Given the description of an element on the screen output the (x, y) to click on. 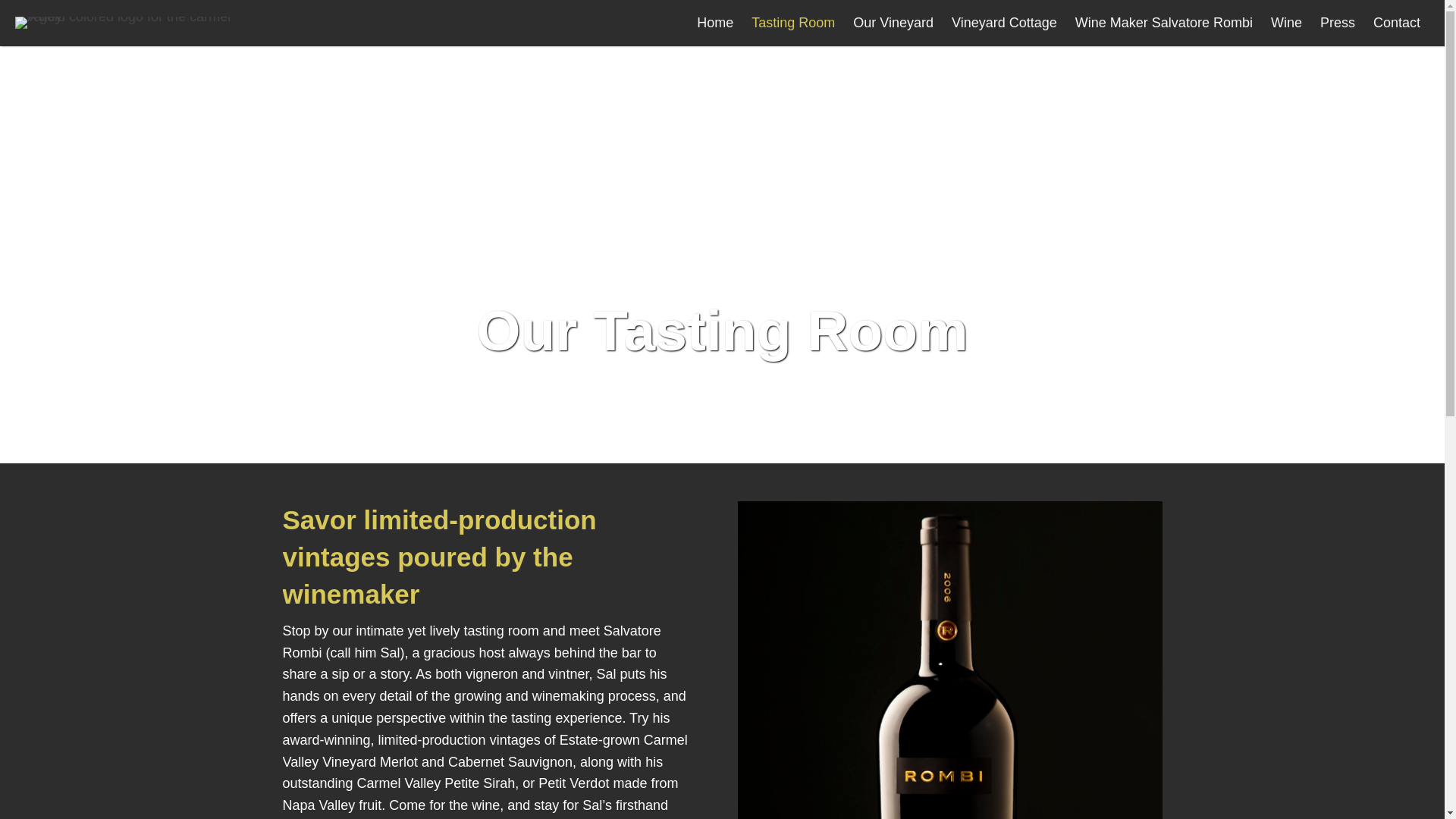
Contact (1396, 22)
Wine Maker Salvatore Rombi (1163, 22)
Press (1337, 22)
Home (714, 22)
Vineyard Cottage (1003, 22)
Our Vineyard (893, 22)
Tasting Room (793, 22)
Wine (1286, 22)
